Given the description of an element on the screen output the (x, y) to click on. 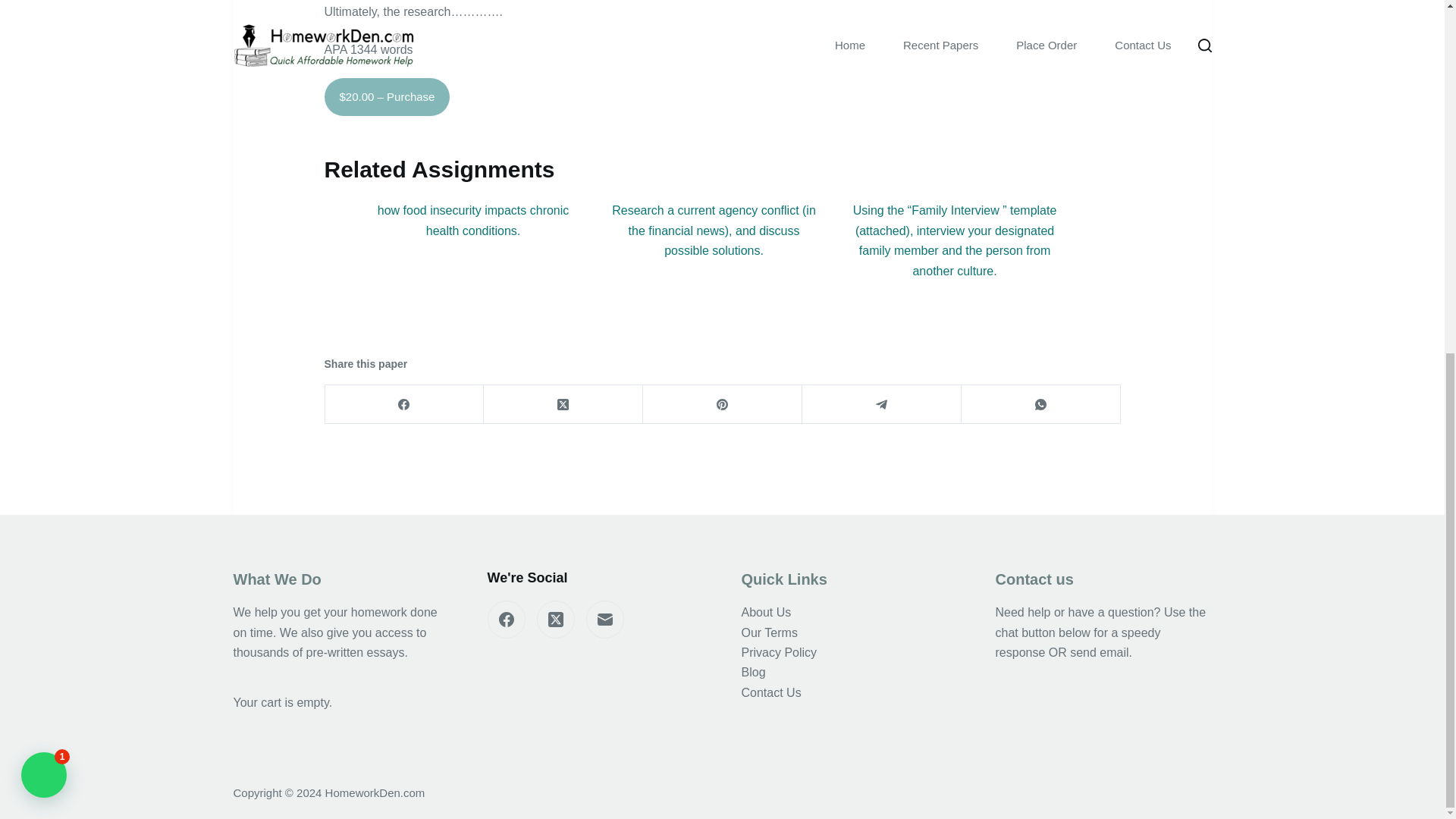
how food insecurity impacts chronic health conditions. (473, 219)
how food insecurity impacts chronic health conditions. (473, 219)
